Given the description of an element on the screen output the (x, y) to click on. 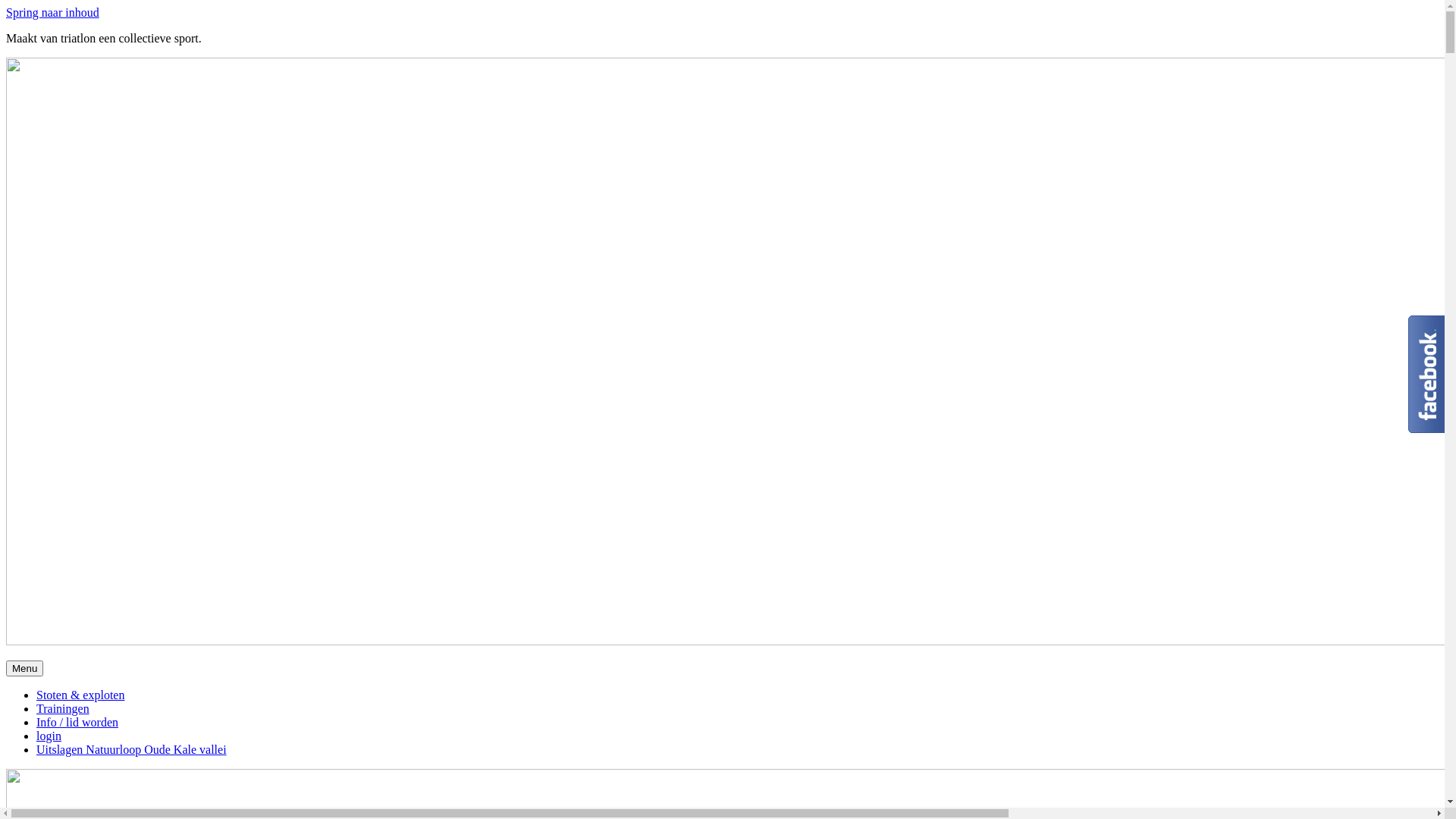
Menu Element type: text (24, 668)
Spring naar inhoud Element type: text (52, 12)
Stoten & exploten Element type: text (80, 694)
login Element type: text (48, 735)
Trainingen Element type: text (62, 708)
Uitslagen Natuurloop Oude Kale vallei Element type: text (131, 749)
Info / lid worden Element type: text (77, 721)
